Given the description of an element on the screen output the (x, y) to click on. 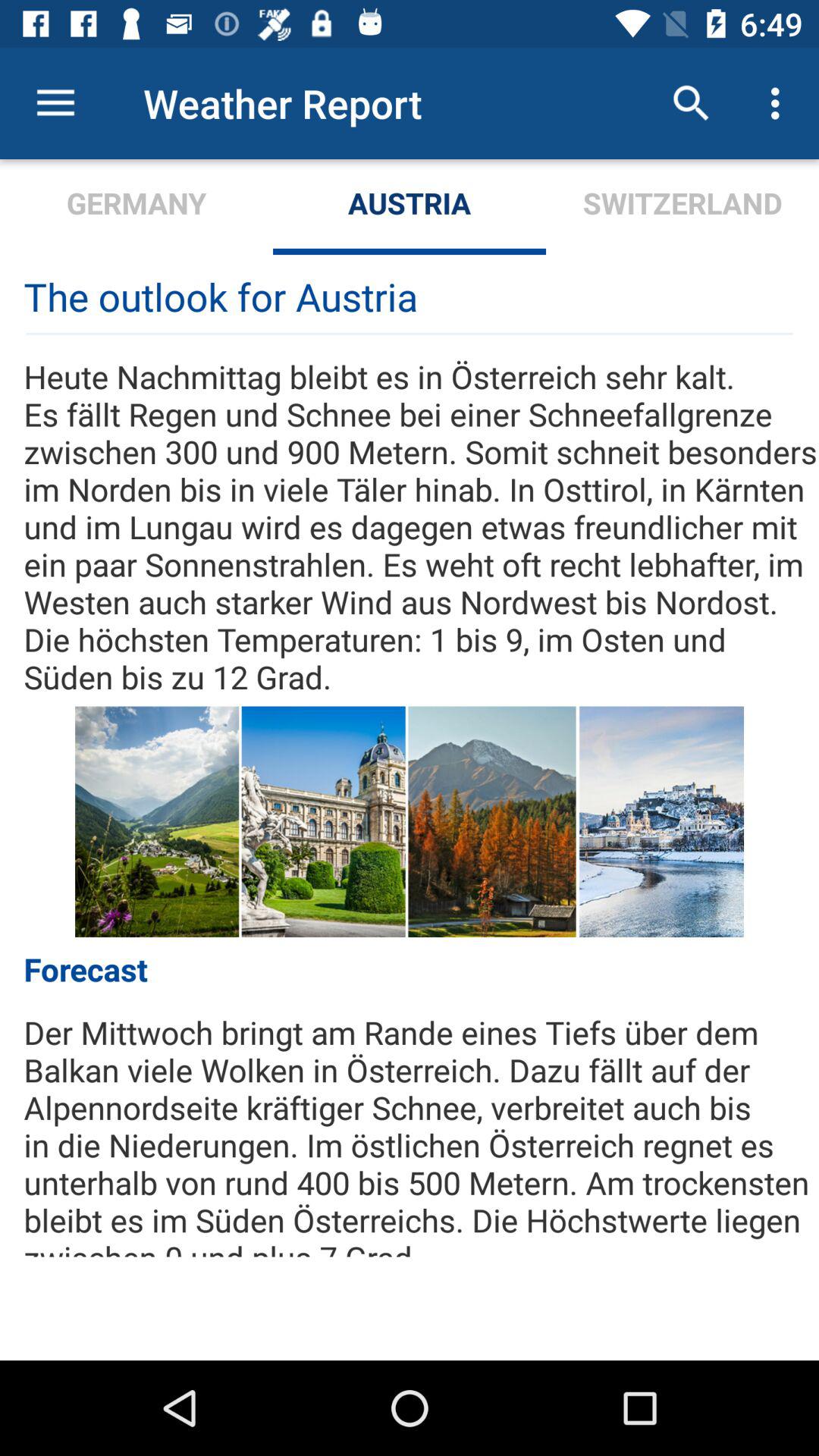
choose the icon to the right of austria item (682, 206)
